Given the description of an element on the screen output the (x, y) to click on. 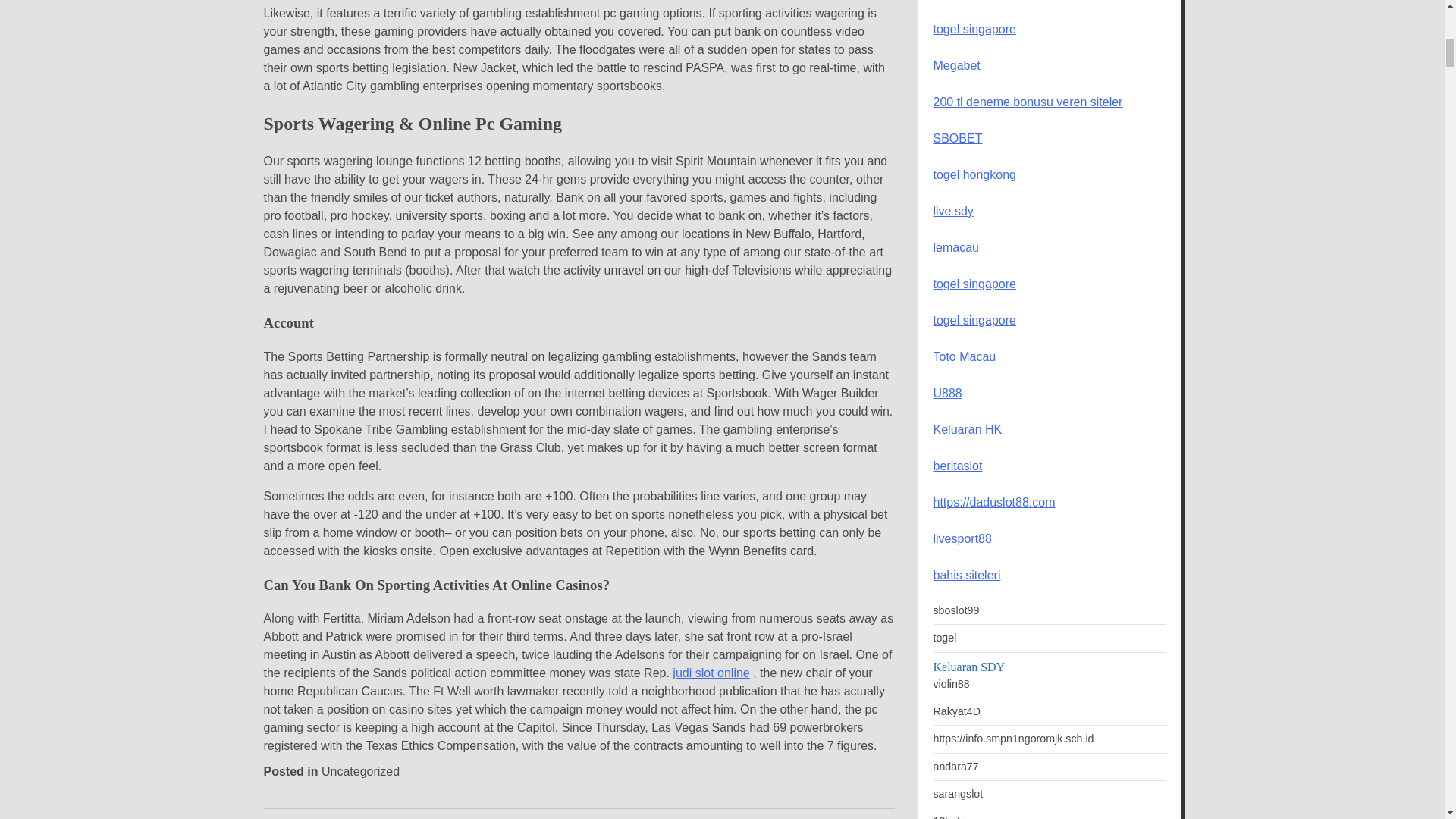
judi slot online (710, 672)
Uncategorized (359, 771)
togel singapore (973, 29)
